Given the description of an element on the screen output the (x, y) to click on. 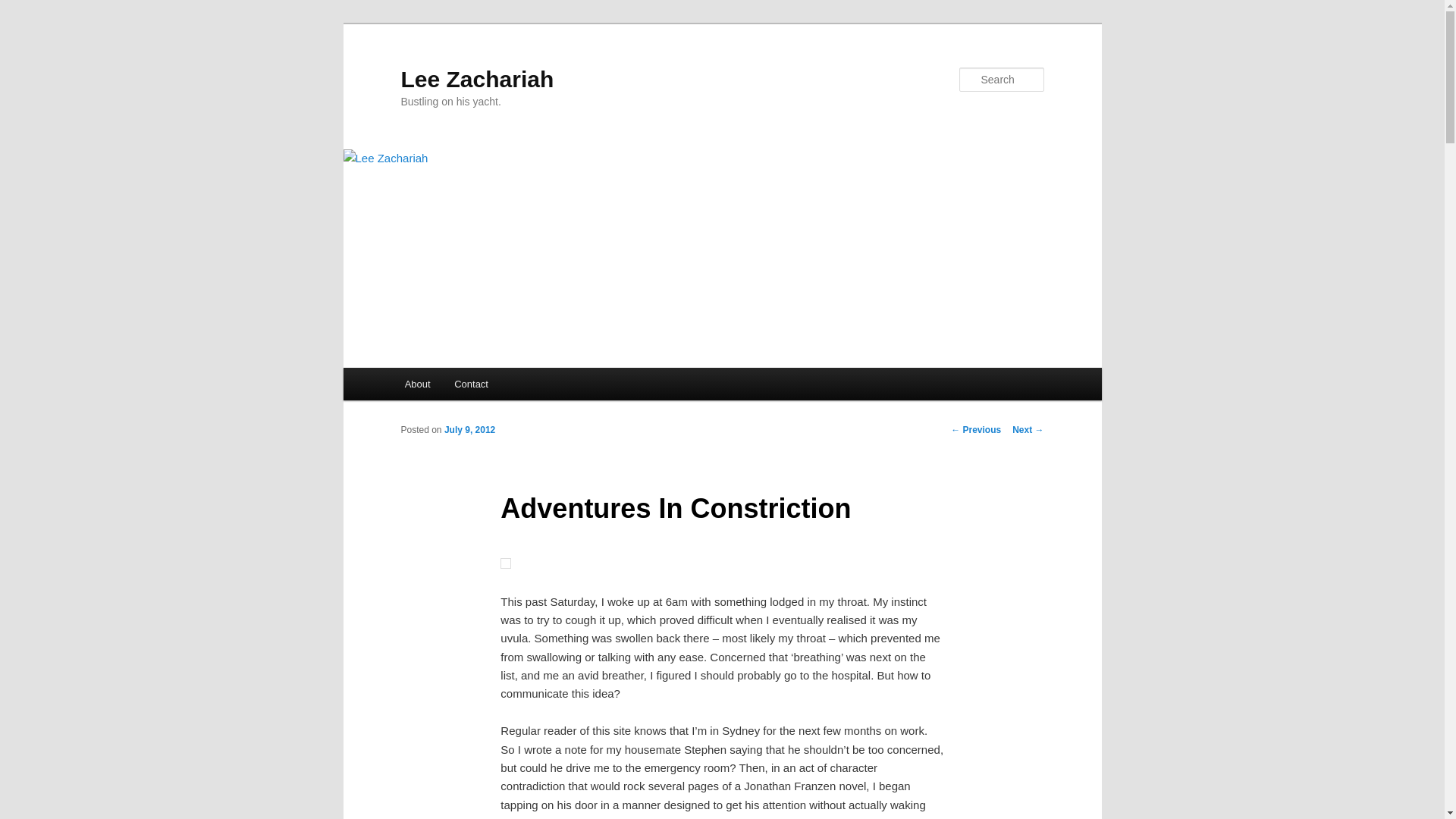
emergency (505, 562)
Search (24, 8)
Contact (470, 383)
About (417, 383)
July 9, 2012 (469, 429)
Lee Zachariah (476, 78)
12:00 pm (469, 429)
